Given the description of an element on the screen output the (x, y) to click on. 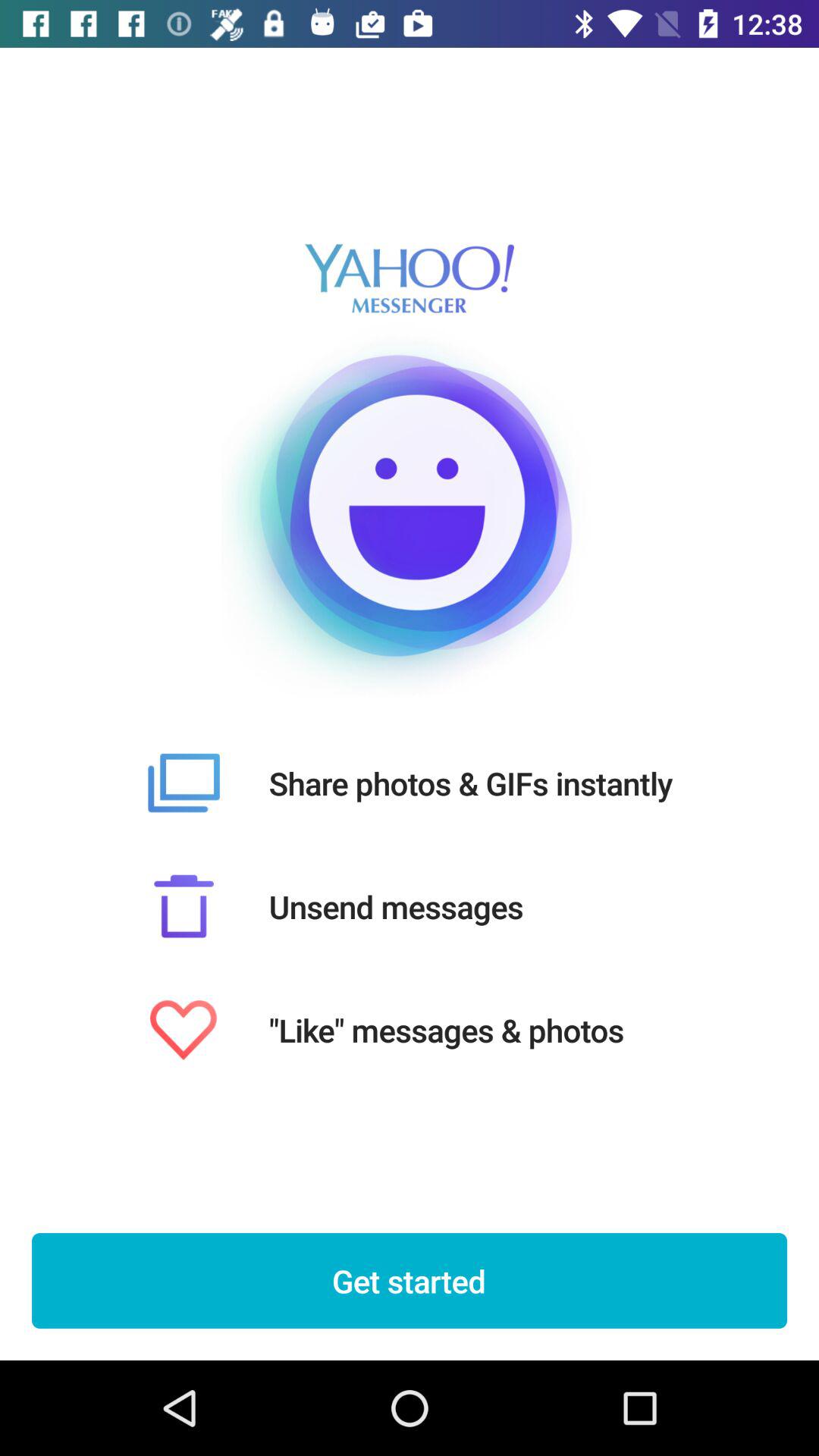
scroll until get started (409, 1280)
